Given the description of an element on the screen output the (x, y) to click on. 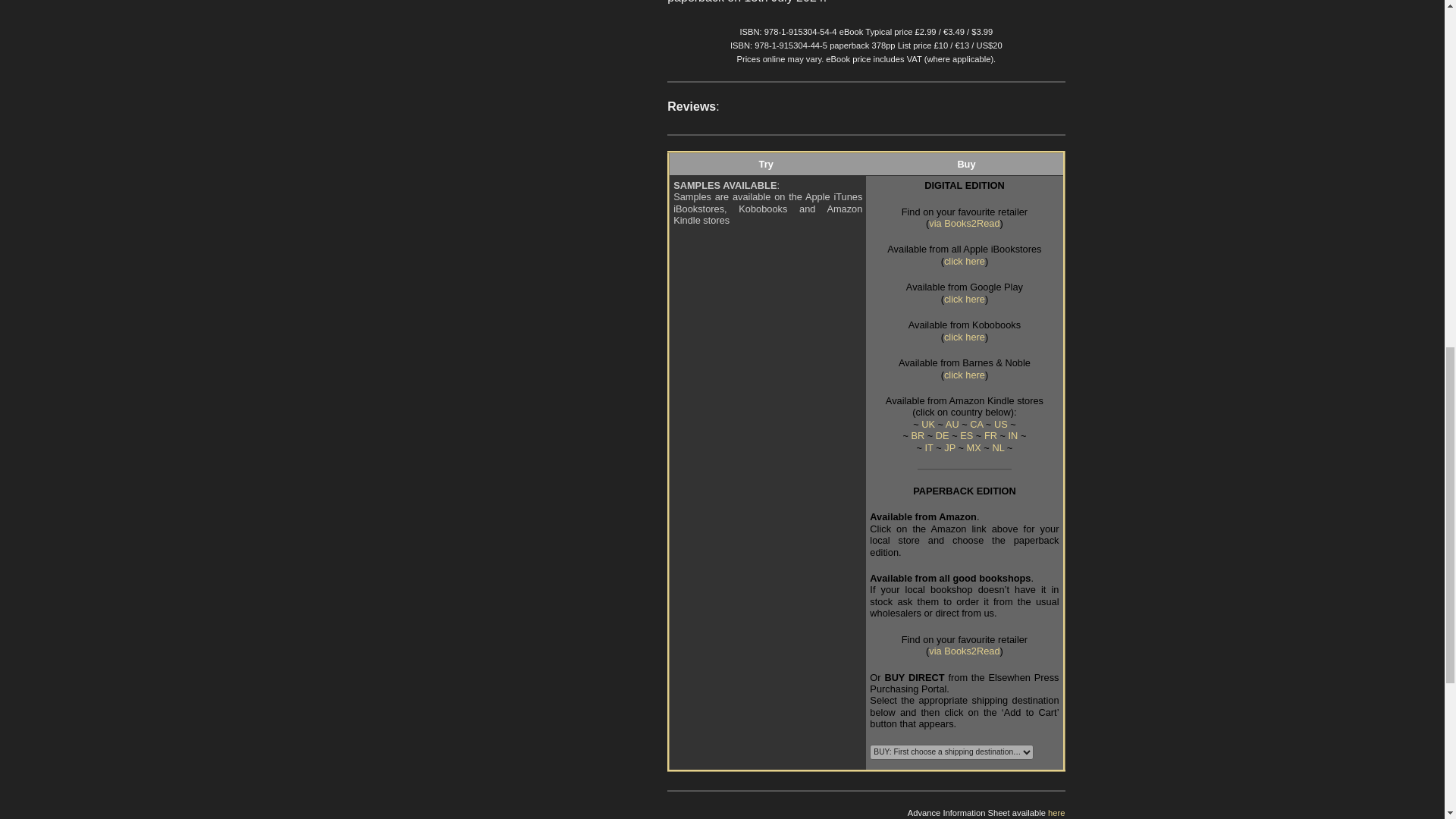
AU (951, 423)
US (1000, 423)
click here (964, 337)
click here (964, 374)
Buy now on Amazon UK Kindle store (927, 423)
UK (927, 423)
Buy now from iTunes (964, 260)
Buy now on Amazon Brazilian Kindle store (917, 435)
Buy from your favourite eRetailer (963, 223)
Buy now on Amazon US Kindle store (1000, 423)
